Given the description of an element on the screen output the (x, y) to click on. 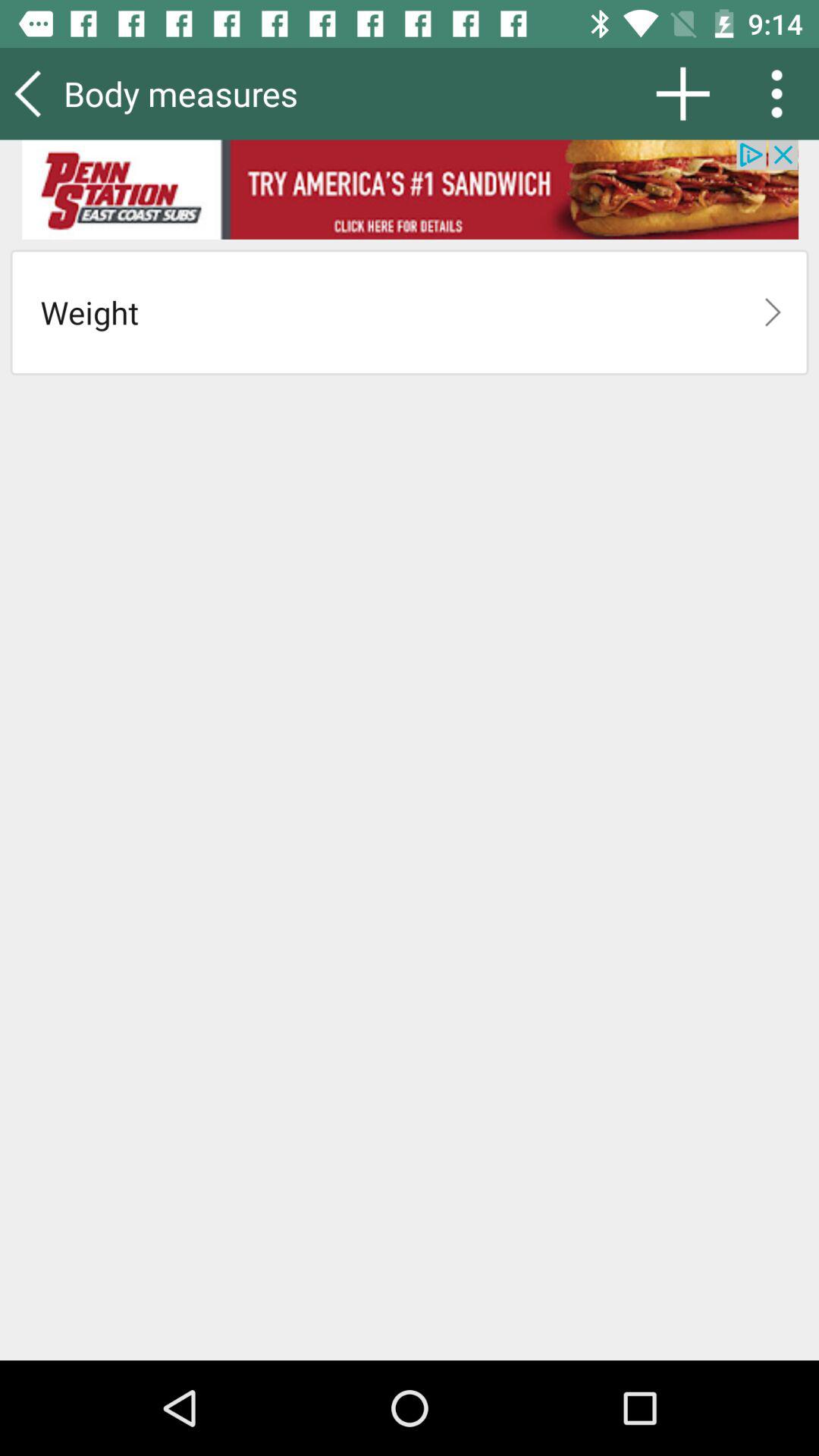
advertisement (409, 189)
